Given the description of an element on the screen output the (x, y) to click on. 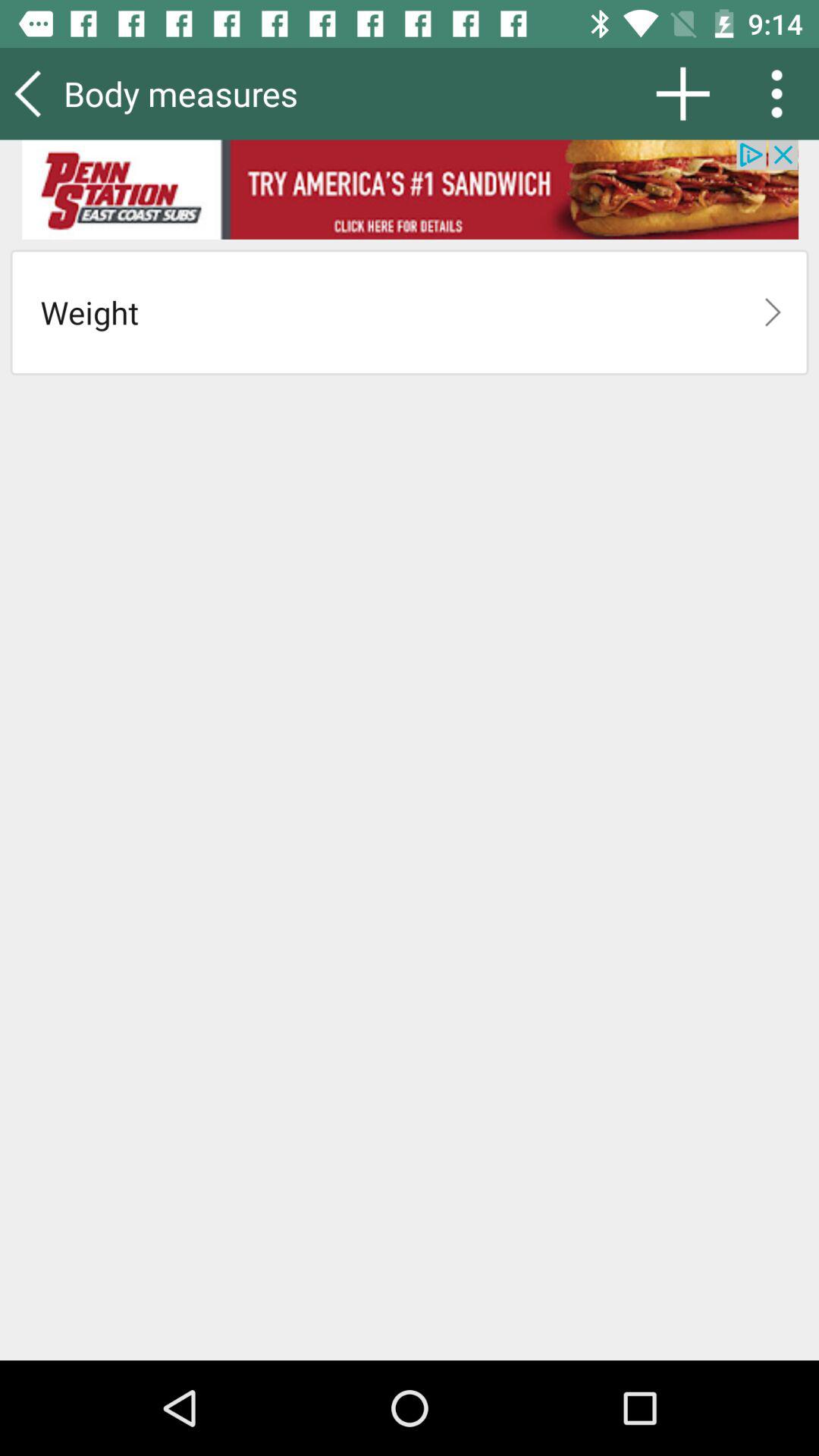
advertisement (409, 189)
